Given the description of an element on the screen output the (x, y) to click on. 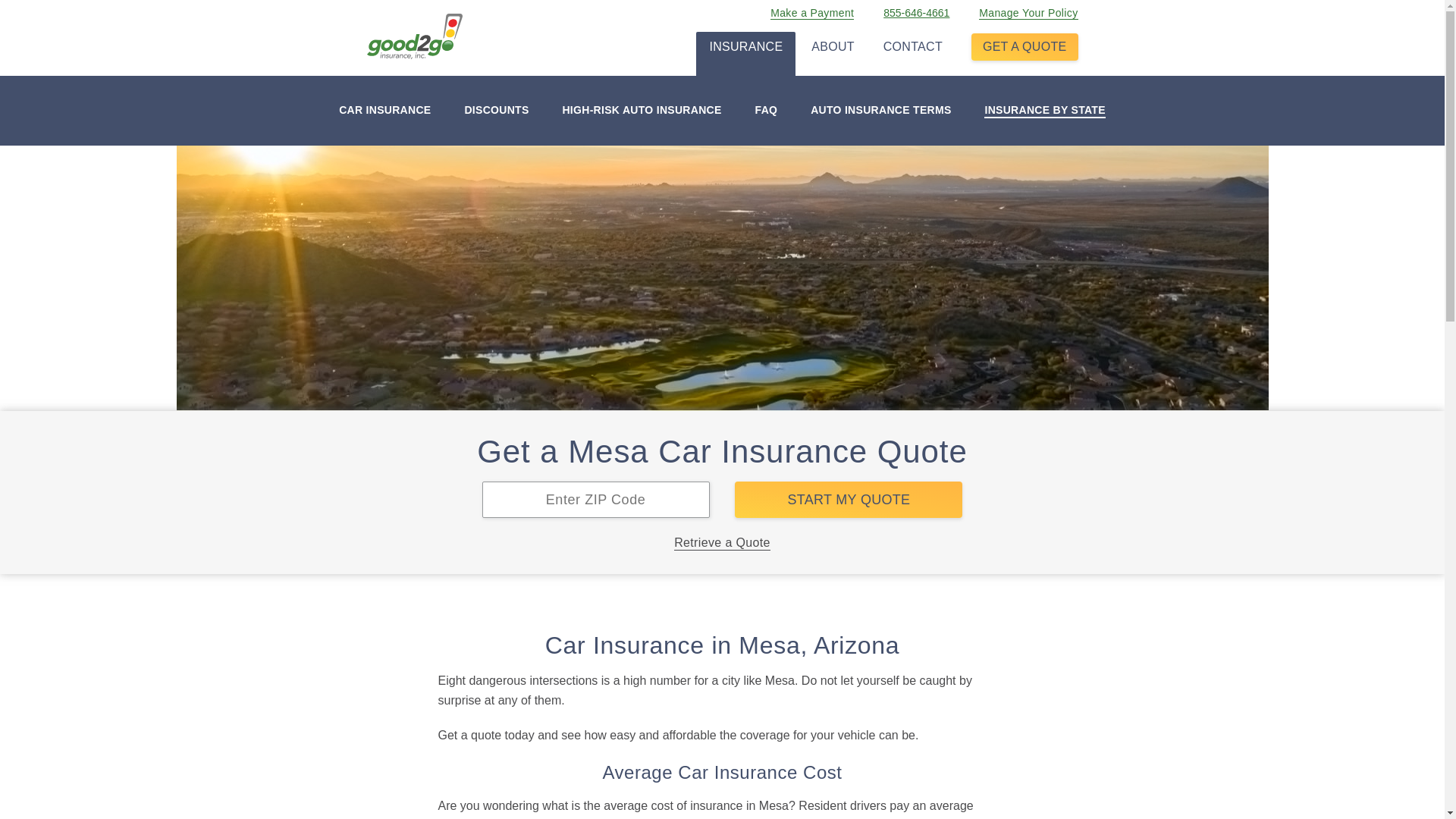
DISCOUNTS (496, 110)
AUTO INSURANCE TERMS (880, 110)
GET A QUOTE (1024, 46)
HIGH-RISK AUTO INSURANCE (641, 110)
855-646-4661 (916, 9)
INSURANCE BY STATE (1044, 110)
CONTACT (912, 42)
Manage Your Policy (1027, 9)
FAQ (766, 110)
CAR INSURANCE (384, 110)
